Given the description of an element on the screen output the (x, y) to click on. 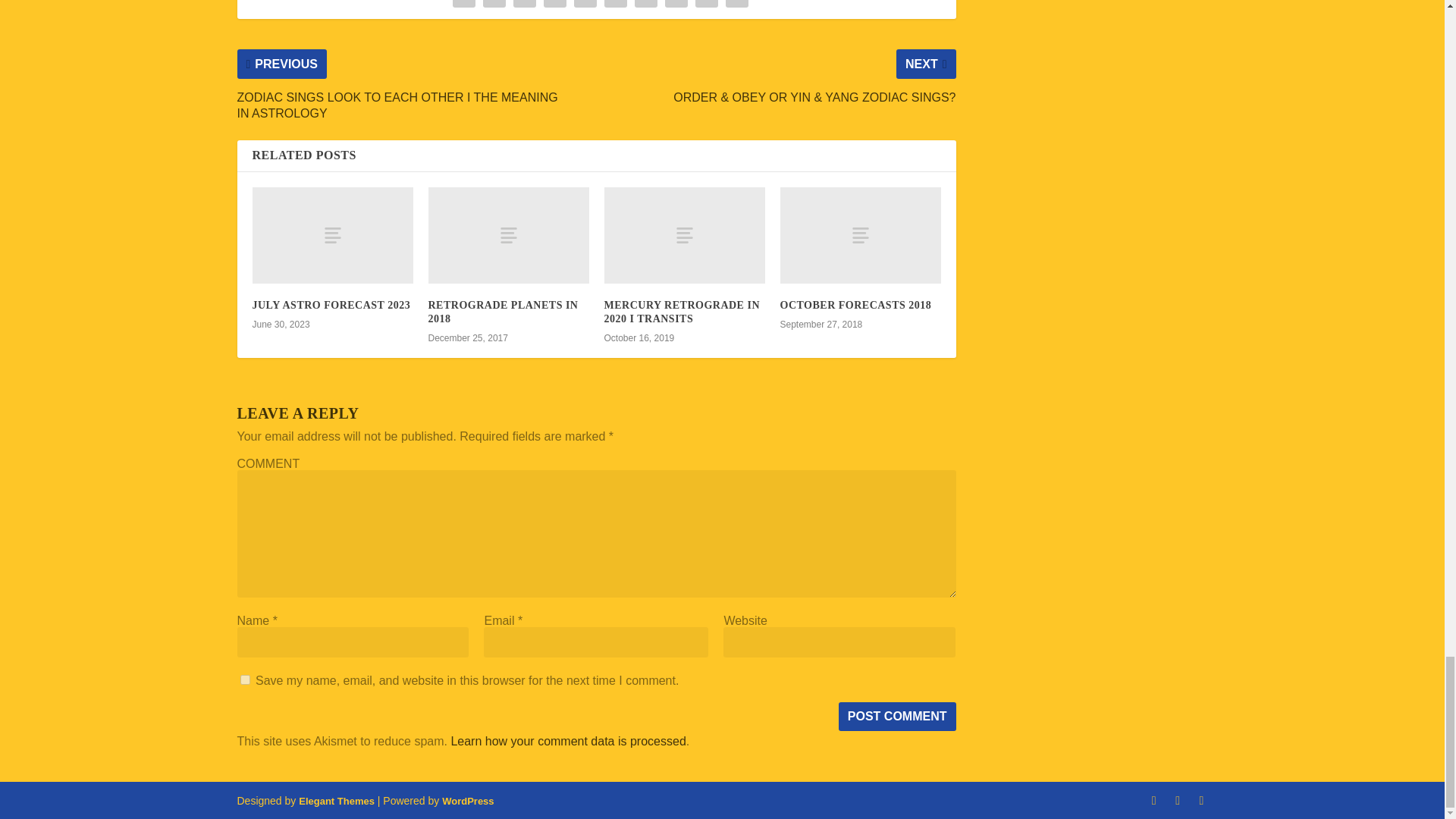
Post Comment (897, 716)
Share "JULY ASTRO FORECASTS 2020" via Print (737, 5)
Share "JULY ASTRO FORECASTS 2020" via Facebook (463, 5)
Share "JULY ASTRO FORECASTS 2020" via Buffer (645, 5)
Share "JULY ASTRO FORECASTS 2020" via Email (706, 5)
yes (244, 679)
Share "JULY ASTRO FORECASTS 2020" via LinkedIn (614, 5)
Share "JULY ASTRO FORECASTS 2020" via Tumblr (555, 5)
Share "JULY ASTRO FORECASTS 2020" via Pinterest (584, 5)
Share "JULY ASTRO FORECASTS 2020" via Twitter (494, 5)
